Given the description of an element on the screen output the (x, y) to click on. 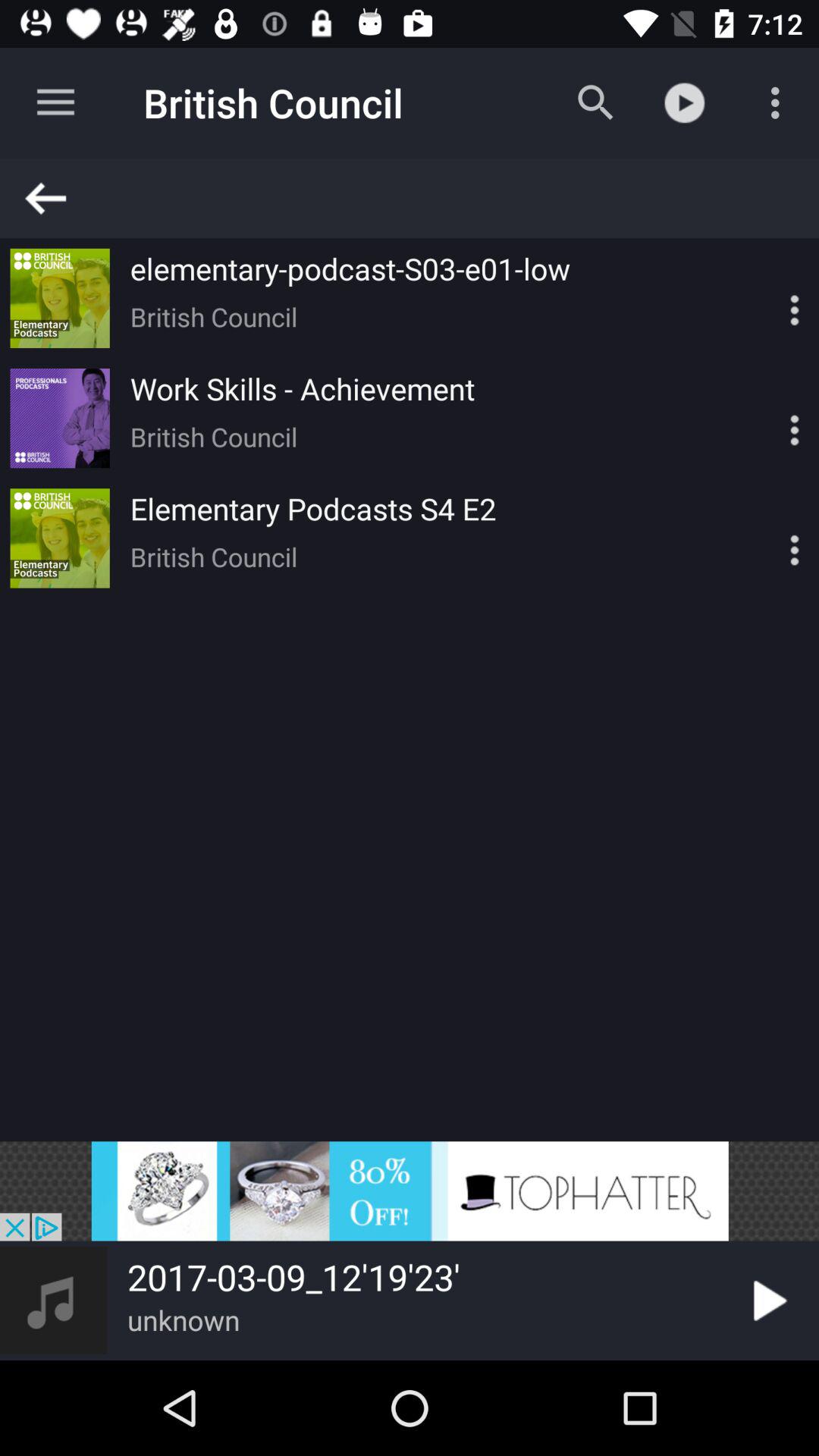
options (768, 538)
